Given the description of an element on the screen output the (x, y) to click on. 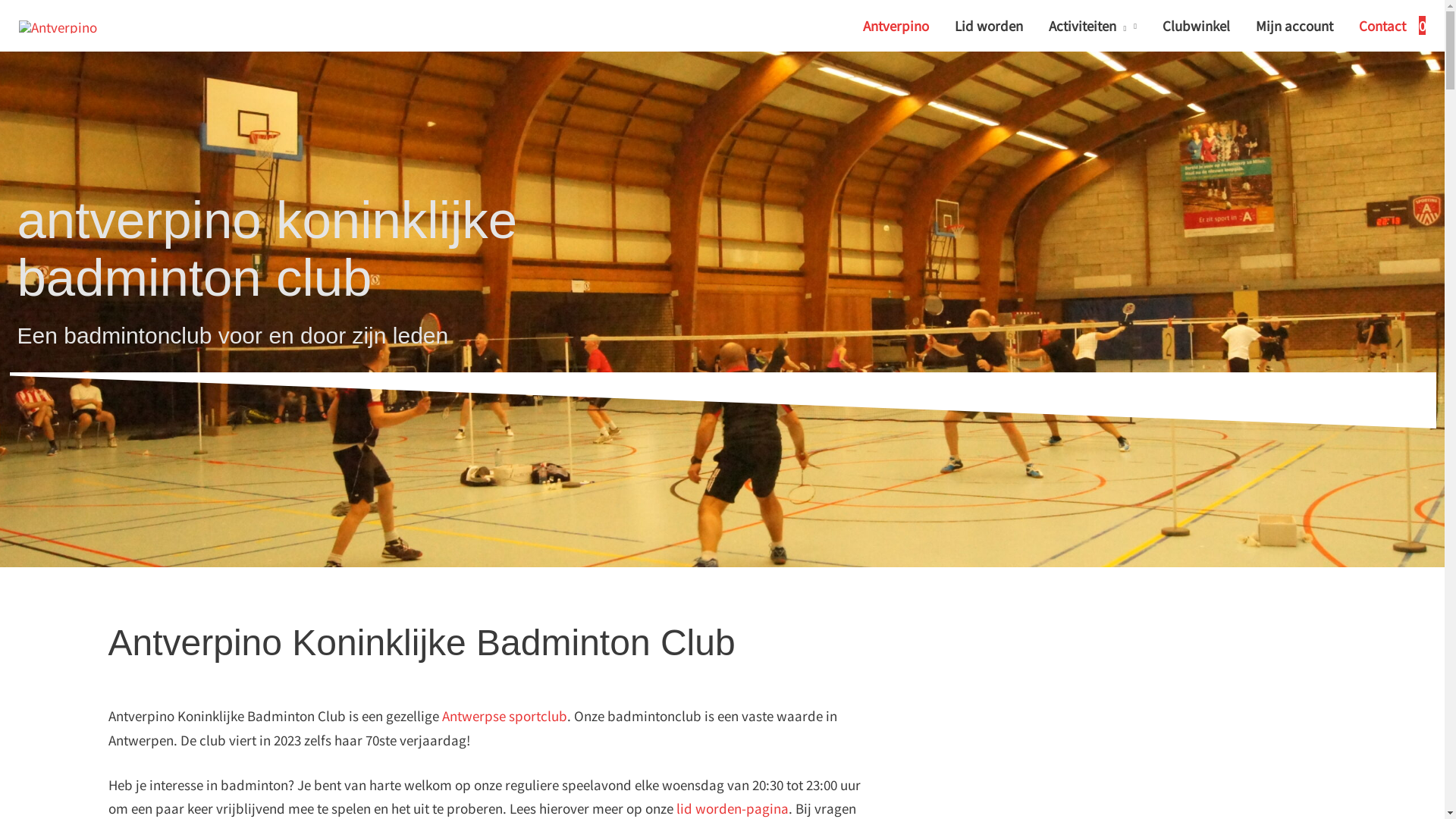
Antwerpse sportclub Element type: text (503, 715)
Antverpino Element type: text (895, 25)
Lid worden Element type: text (988, 25)
Mijn account Element type: text (1294, 25)
lid worden-pagina Element type: text (732, 807)
Activiteiten Element type: text (1092, 25)
Clubwinkel Element type: text (1195, 25)
Contact Element type: text (1382, 25)
0 Element type: text (1421, 25)
